Given the description of an element on the screen output the (x, y) to click on. 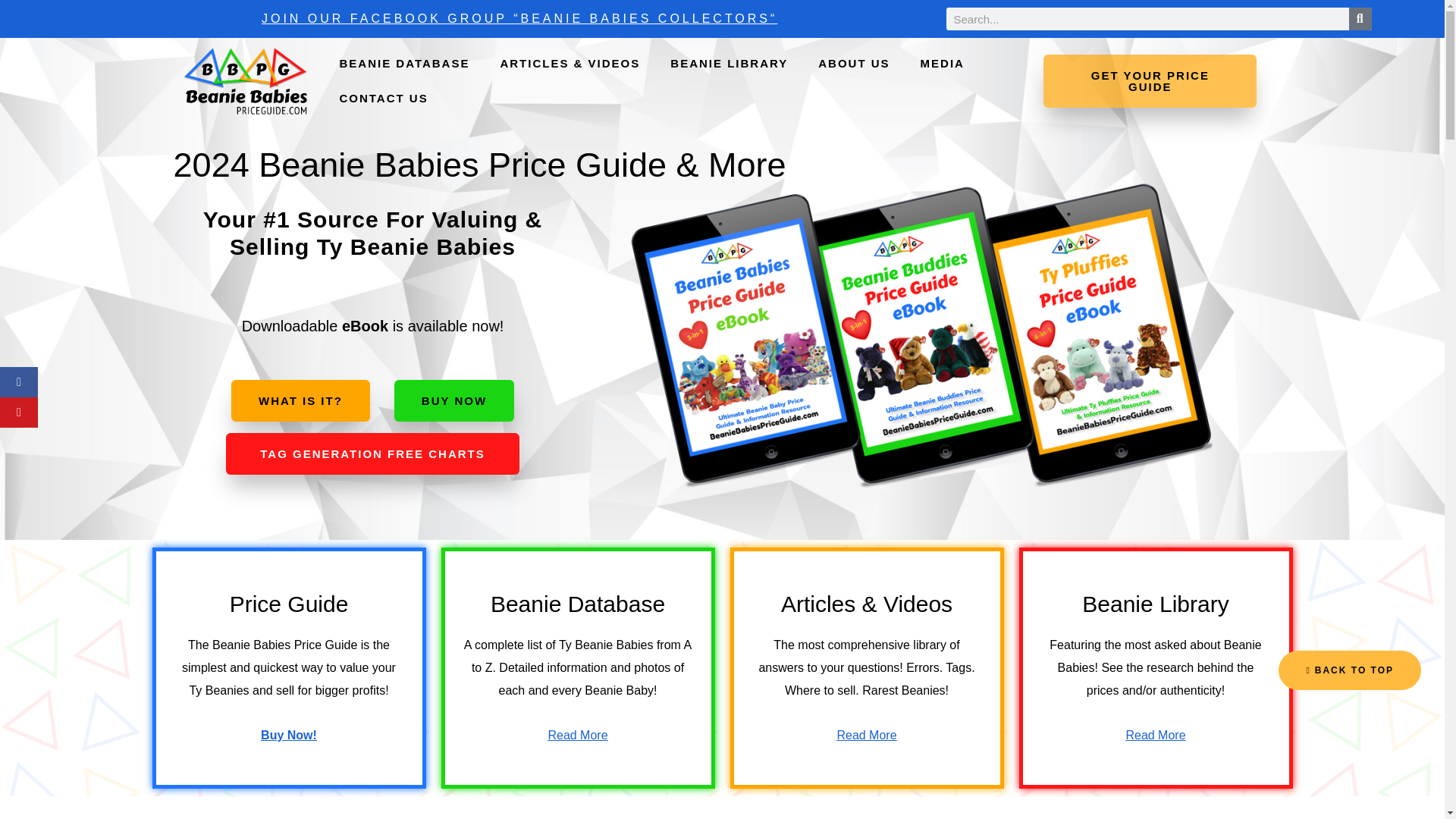
Read More (1155, 735)
Read More (577, 735)
TAG GENERATION FREE CHARTS (371, 454)
BUY NOW (453, 400)
Read More (865, 735)
WHAT IS IT? (300, 400)
ABOUT US (853, 63)
BEANIE LIBRARY (729, 63)
MEDIA (942, 63)
CONTACT US (382, 98)
